Given the description of an element on the screen output the (x, y) to click on. 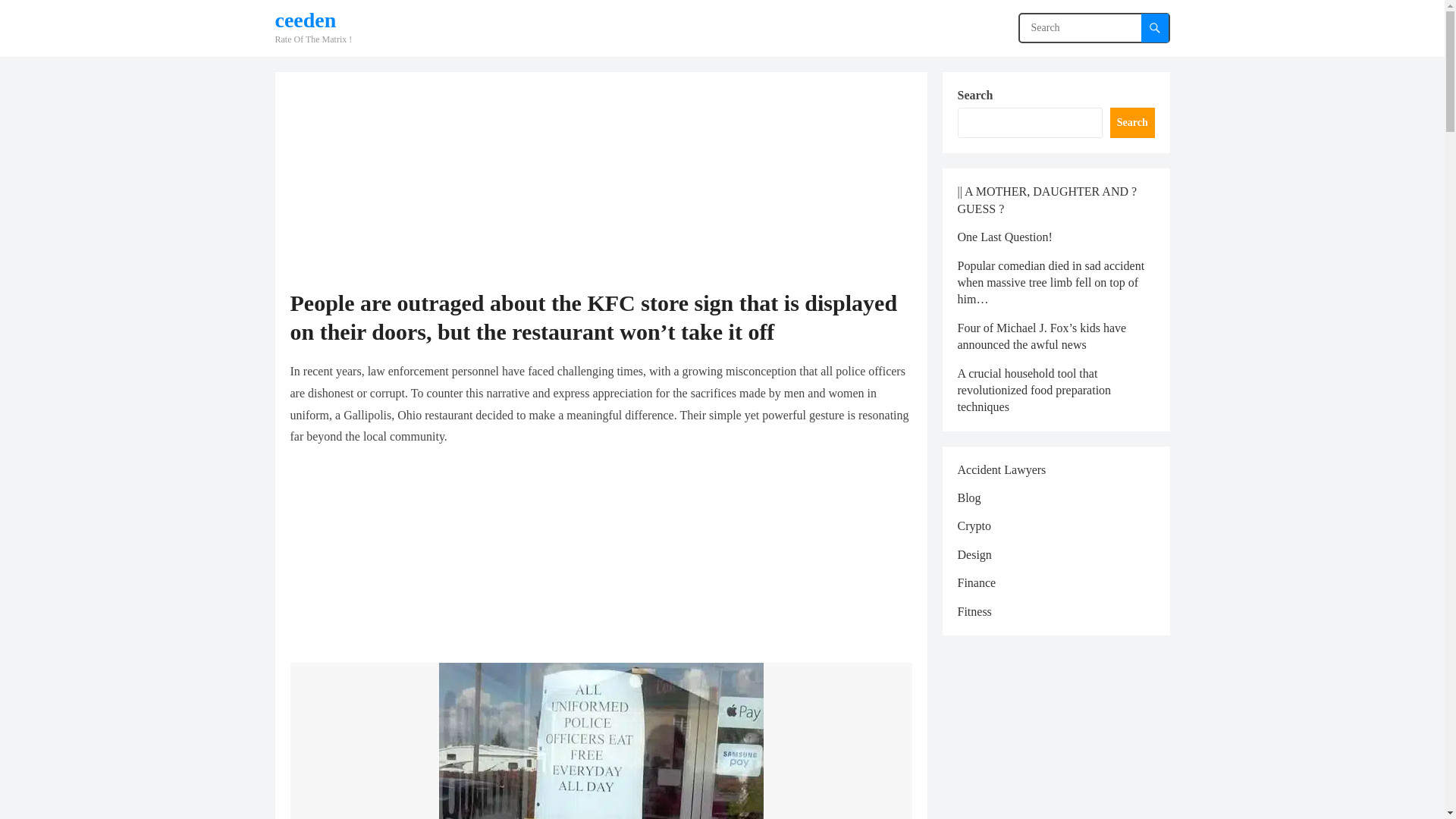
ceeden (313, 20)
